Given the description of an element on the screen output the (x, y) to click on. 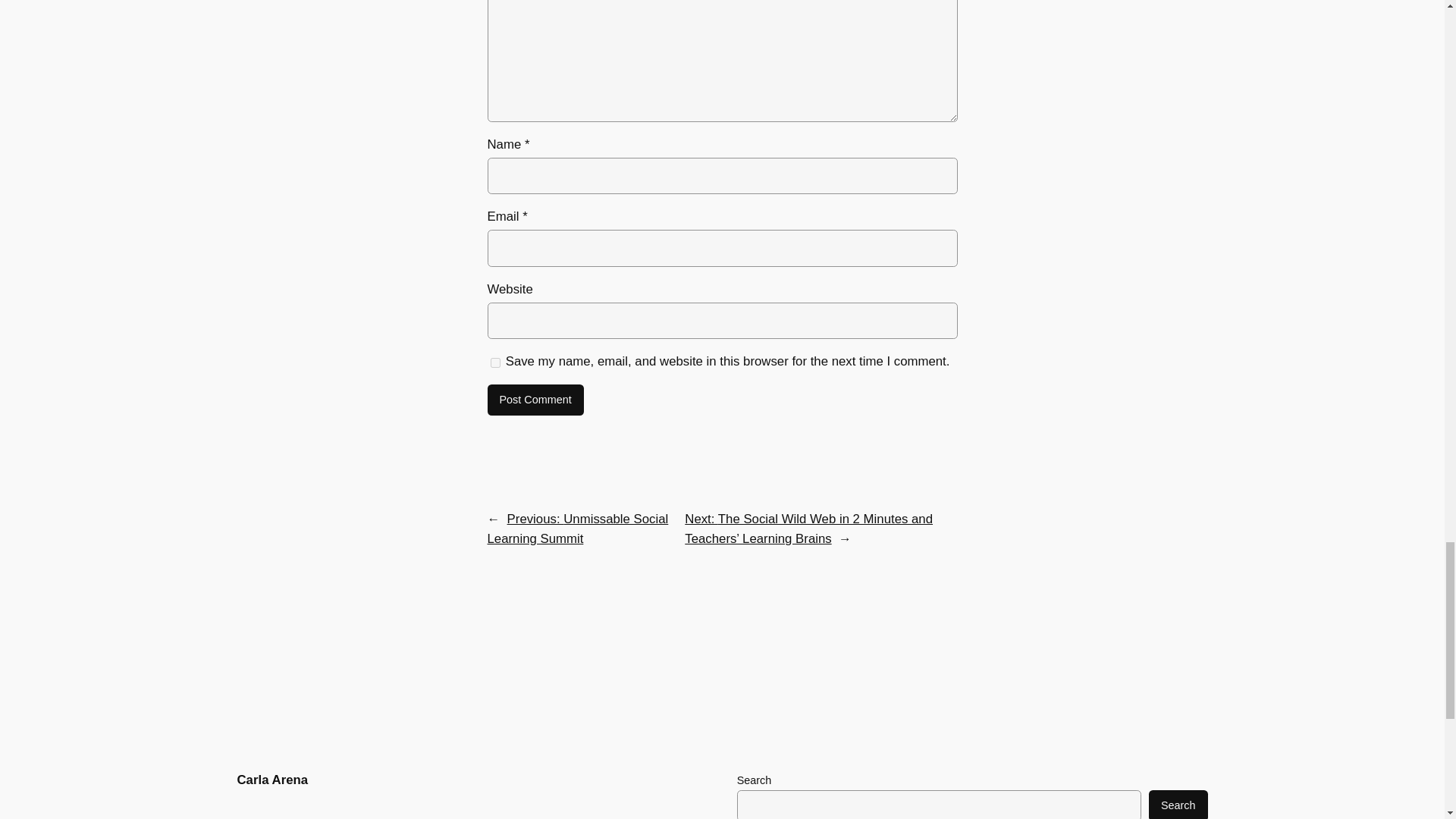
Post Comment (534, 400)
